Given the description of an element on the screen output the (x, y) to click on. 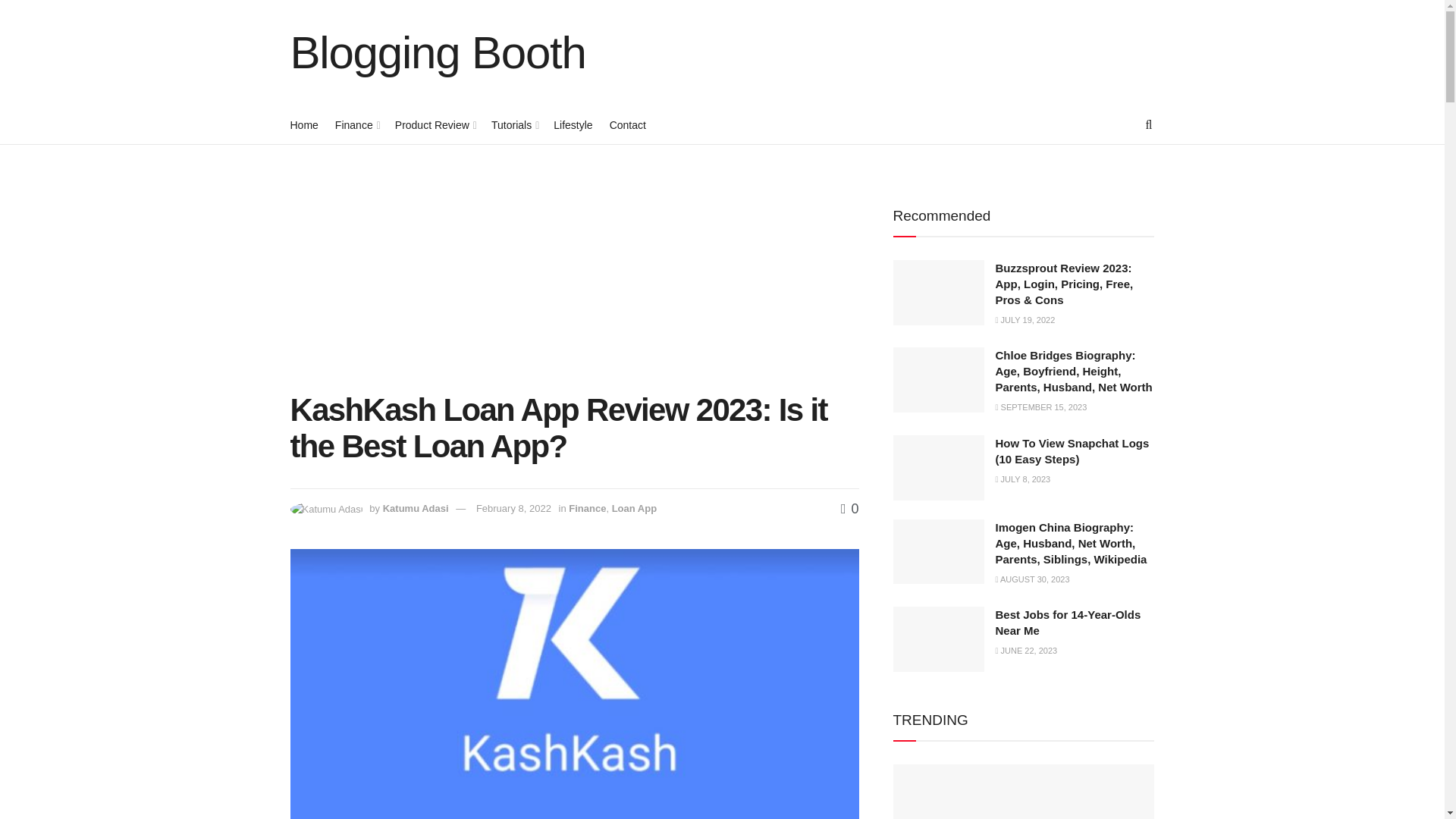
Home (303, 124)
Tutorials (514, 124)
Product Review (434, 124)
Finance (356, 124)
Blogging Booth (437, 53)
Lifestyle (572, 124)
Contact (628, 124)
